Given the description of an element on the screen output the (x, y) to click on. 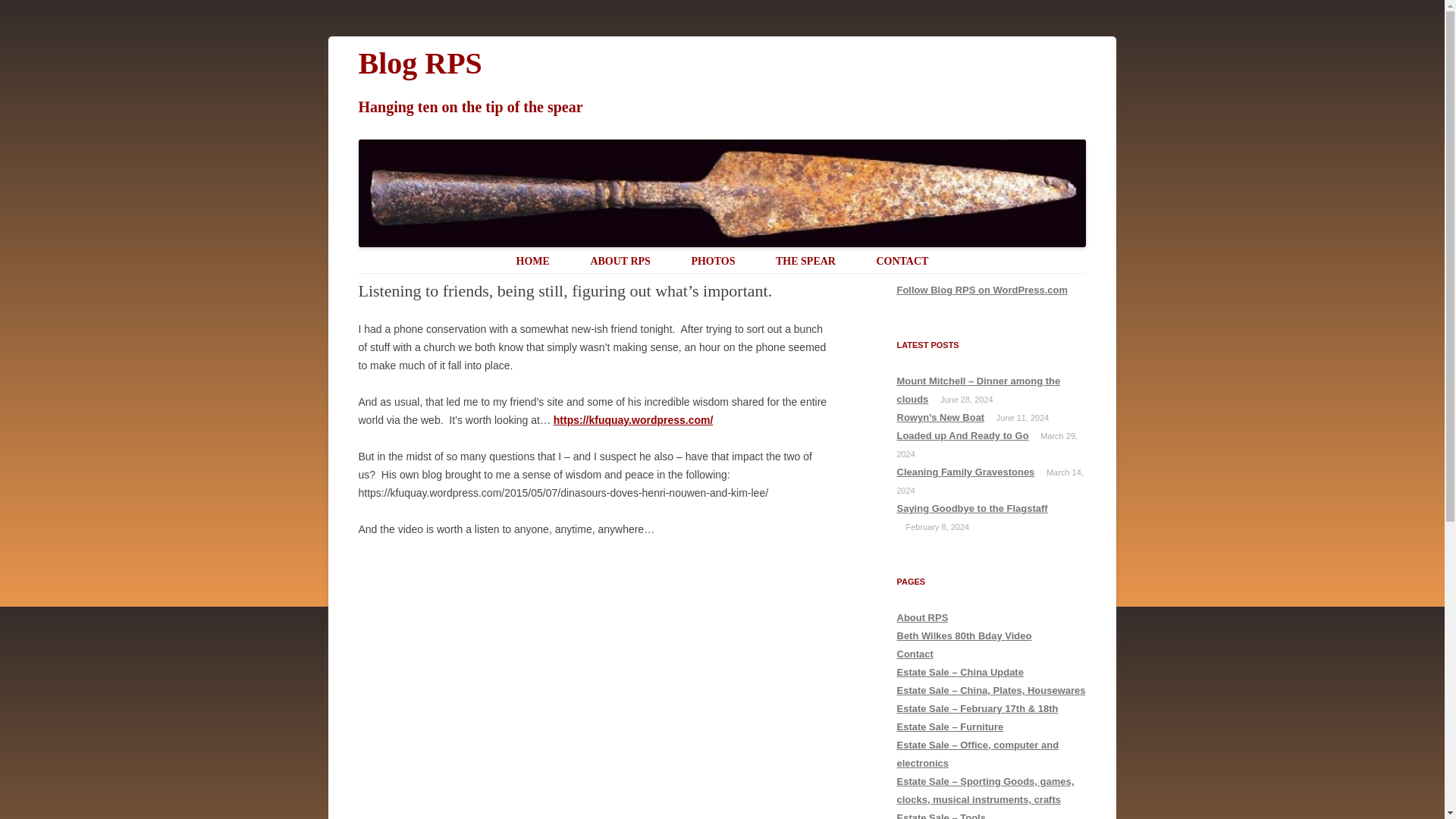
CONTACT (902, 261)
ABOUT RPS (619, 261)
Beth Wilkes 80th Bday Video (963, 635)
Follow Blog RPS on WordPress.com (981, 289)
THE SPEAR (805, 261)
PHOTOS (712, 261)
Cleaning Family Gravestones (964, 471)
About RPS (921, 617)
Blog RPS (419, 63)
